Given the description of an element on the screen output the (x, y) to click on. 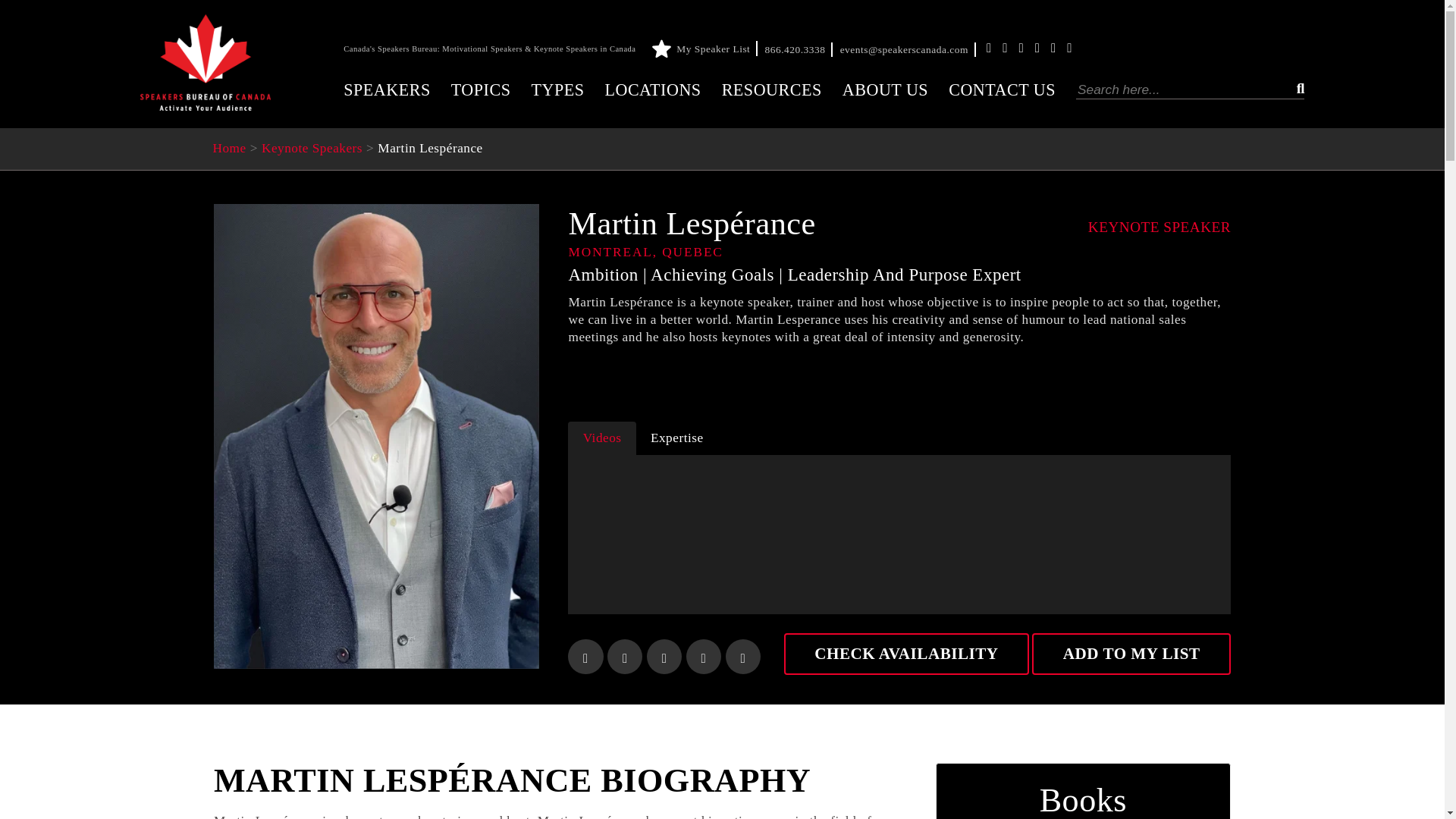
Keynote Speakers (312, 147)
RESOURCES (772, 89)
My Speaker List (707, 49)
ADD TO MY LIST (1131, 654)
ABOUT US (885, 89)
TYPES (557, 89)
SPEAKERS (386, 89)
LOCATIONS (652, 89)
866.420.3338 (798, 49)
CHECK AVAILABILITY (906, 654)
